Given the description of an element on the screen output the (x, y) to click on. 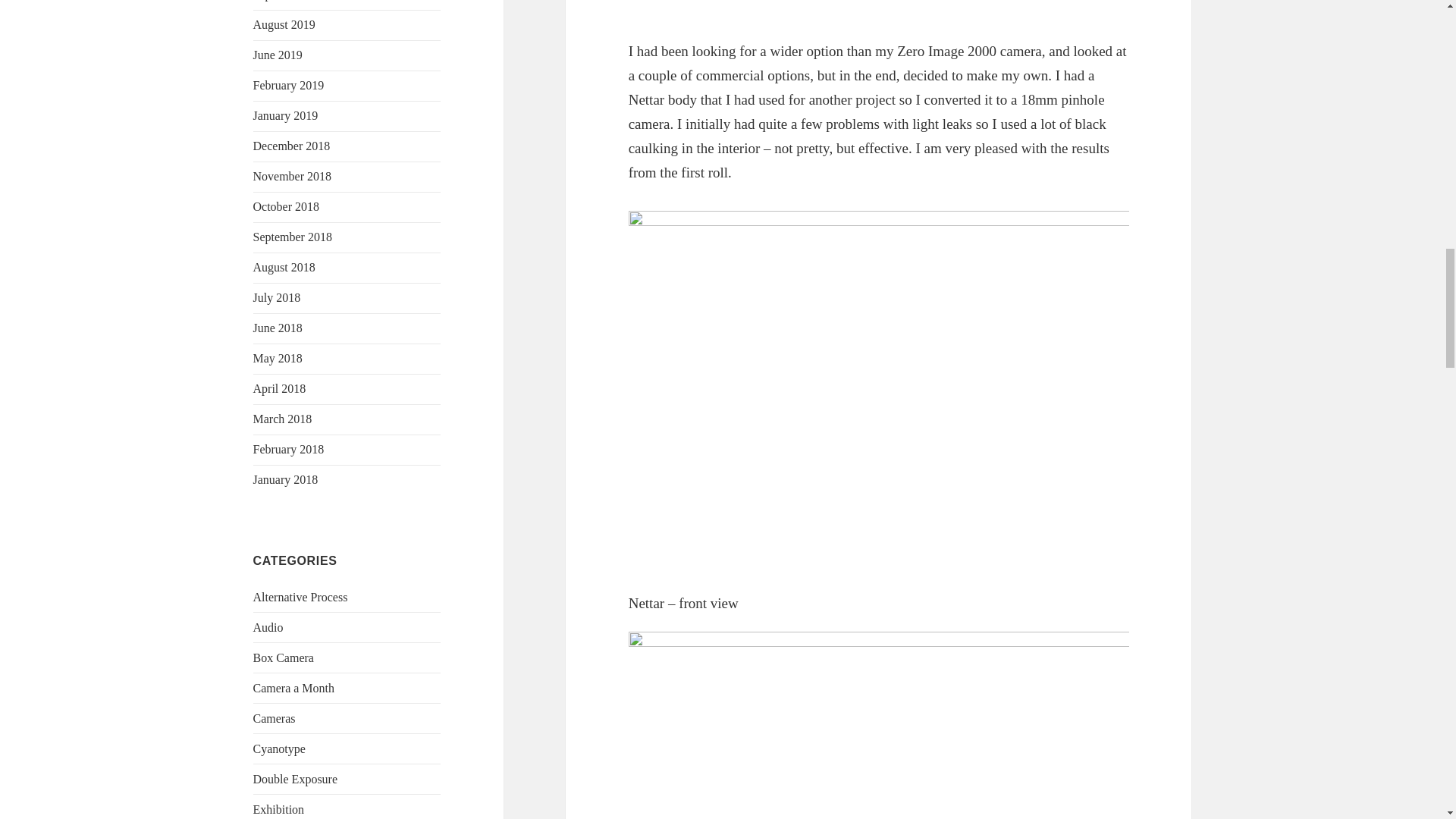
August 2019 (284, 24)
June 2019 (277, 54)
